Given the description of an element on the screen output the (x, y) to click on. 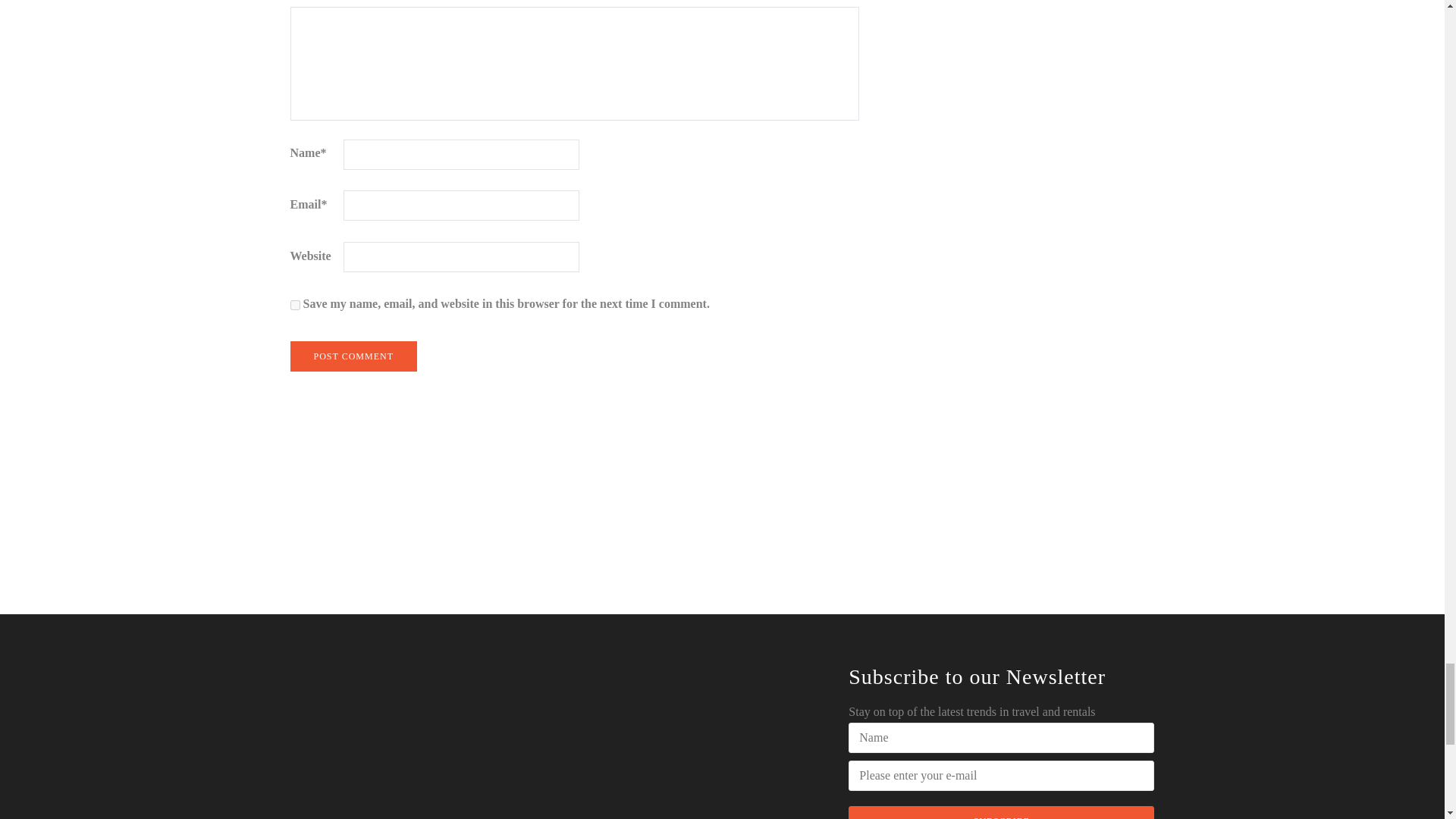
Post comment (352, 356)
yes (294, 305)
